Given the description of an element on the screen output the (x, y) to click on. 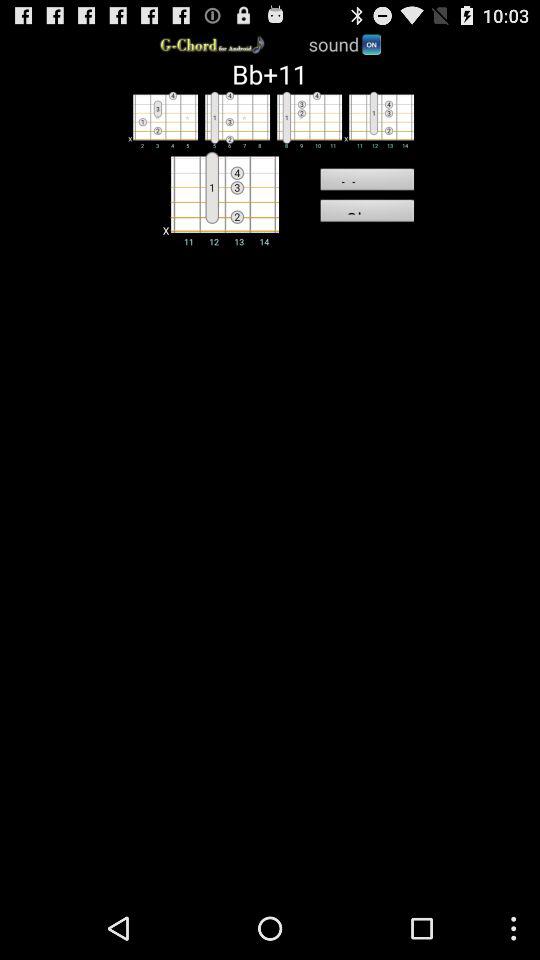
select to view chord (162, 119)
